Given the description of an element on the screen output the (x, y) to click on. 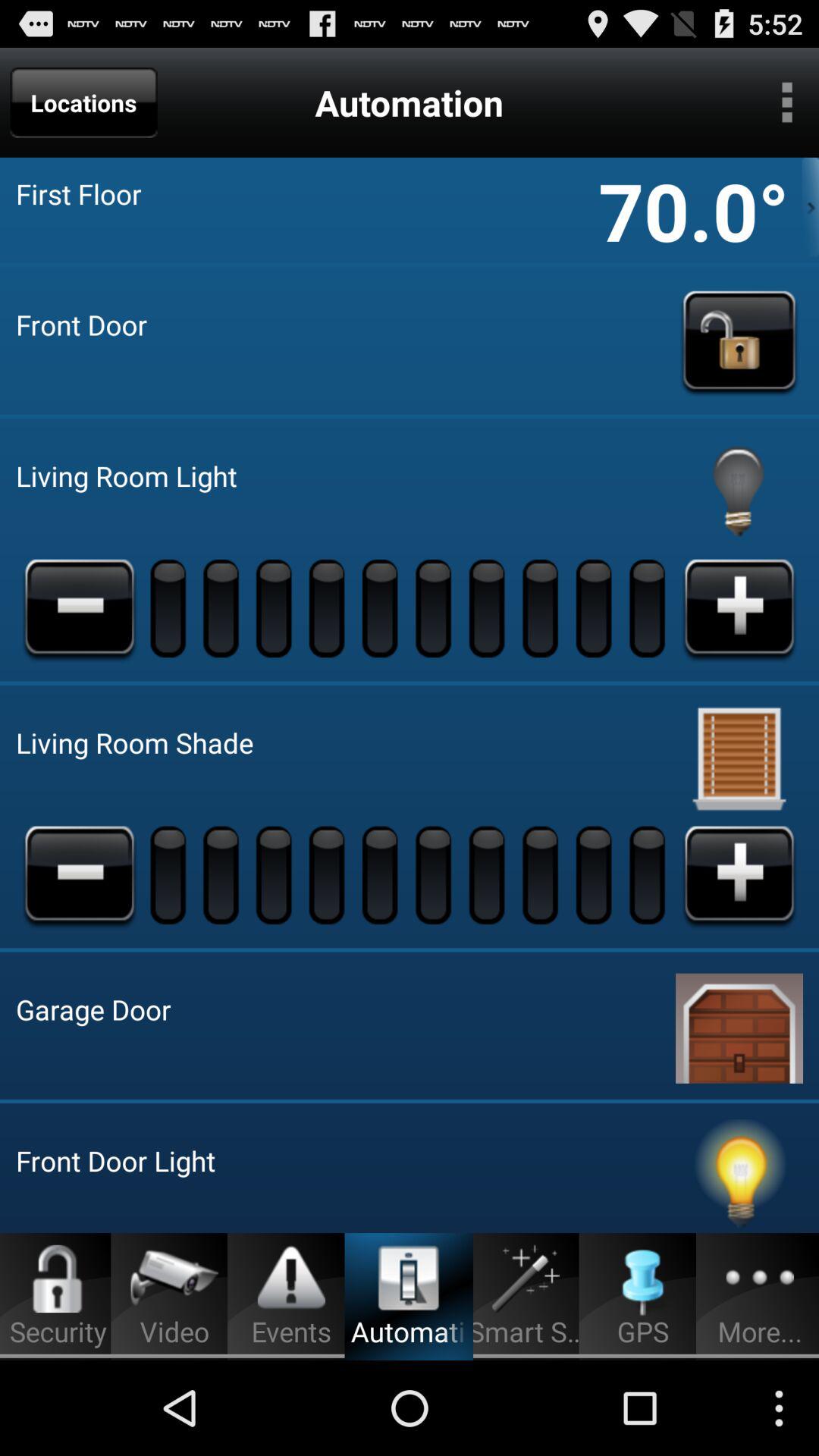
open the shade (739, 874)
